Given the description of an element on the screen output the (x, y) to click on. 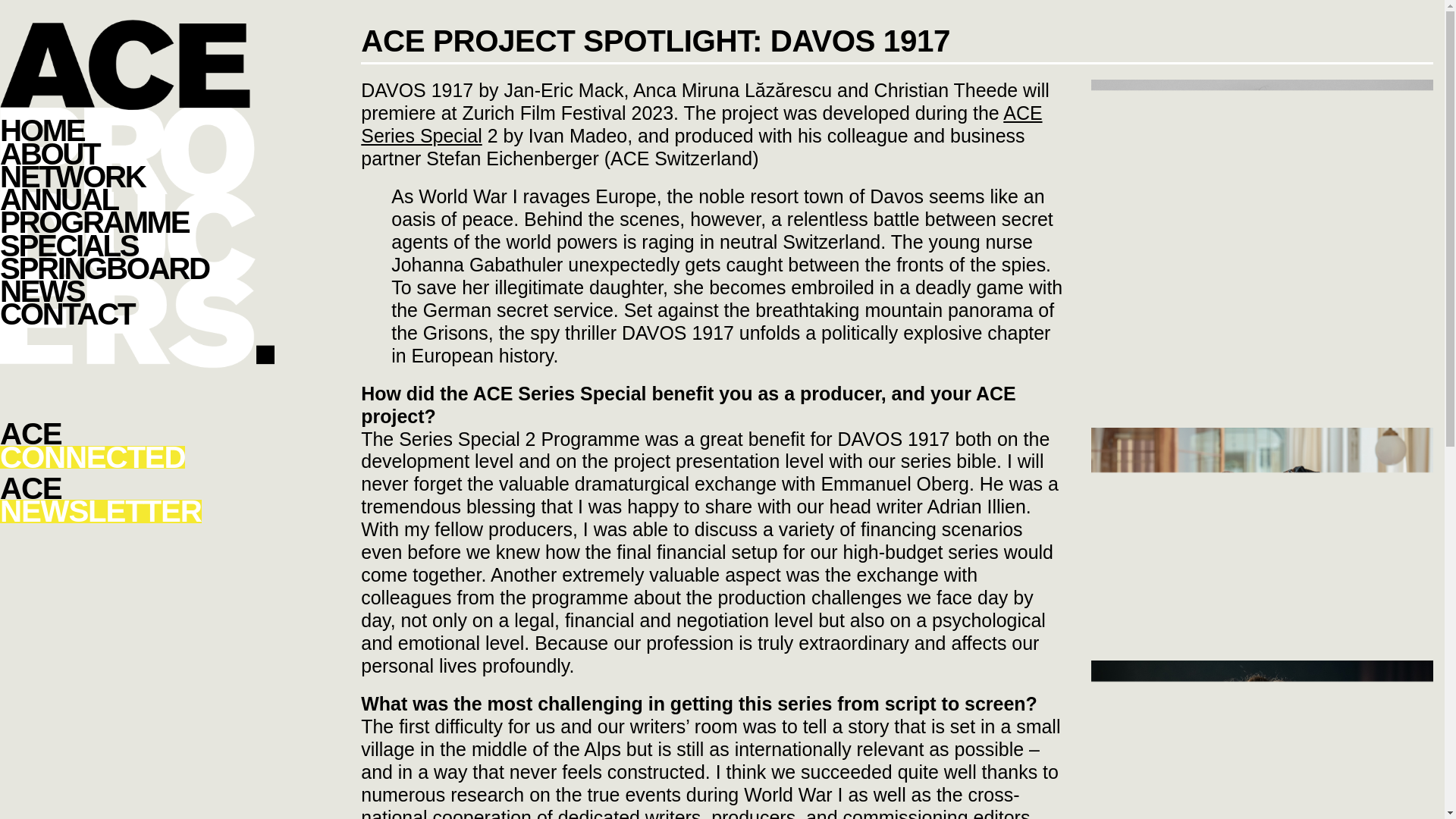
NEWS (137, 445)
ANNUAL PROGRAMME (137, 500)
davos-1917-still1 (137, 291)
CONTACT (137, 210)
ACE Series Special (1261, 648)
HOME (137, 313)
NETWORK (701, 124)
ABOUT (137, 129)
davos-1917-still1 (137, 176)
SPECIALS (137, 153)
davos-1917-still2 (1261, 541)
SPRINGBOARD (137, 244)
